Given the description of an element on the screen output the (x, y) to click on. 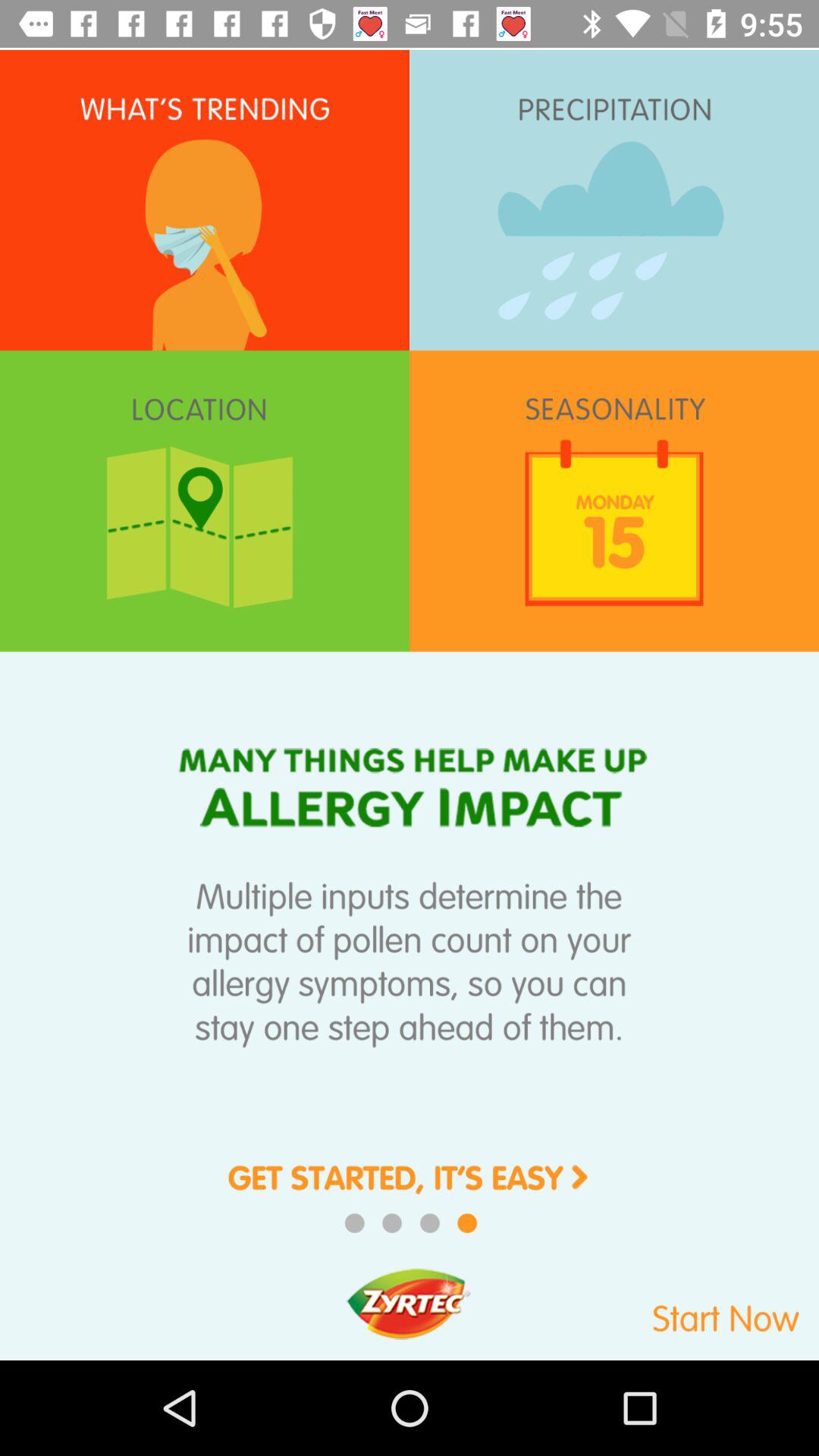
starting option (409, 1188)
